Given the description of an element on the screen output the (x, y) to click on. 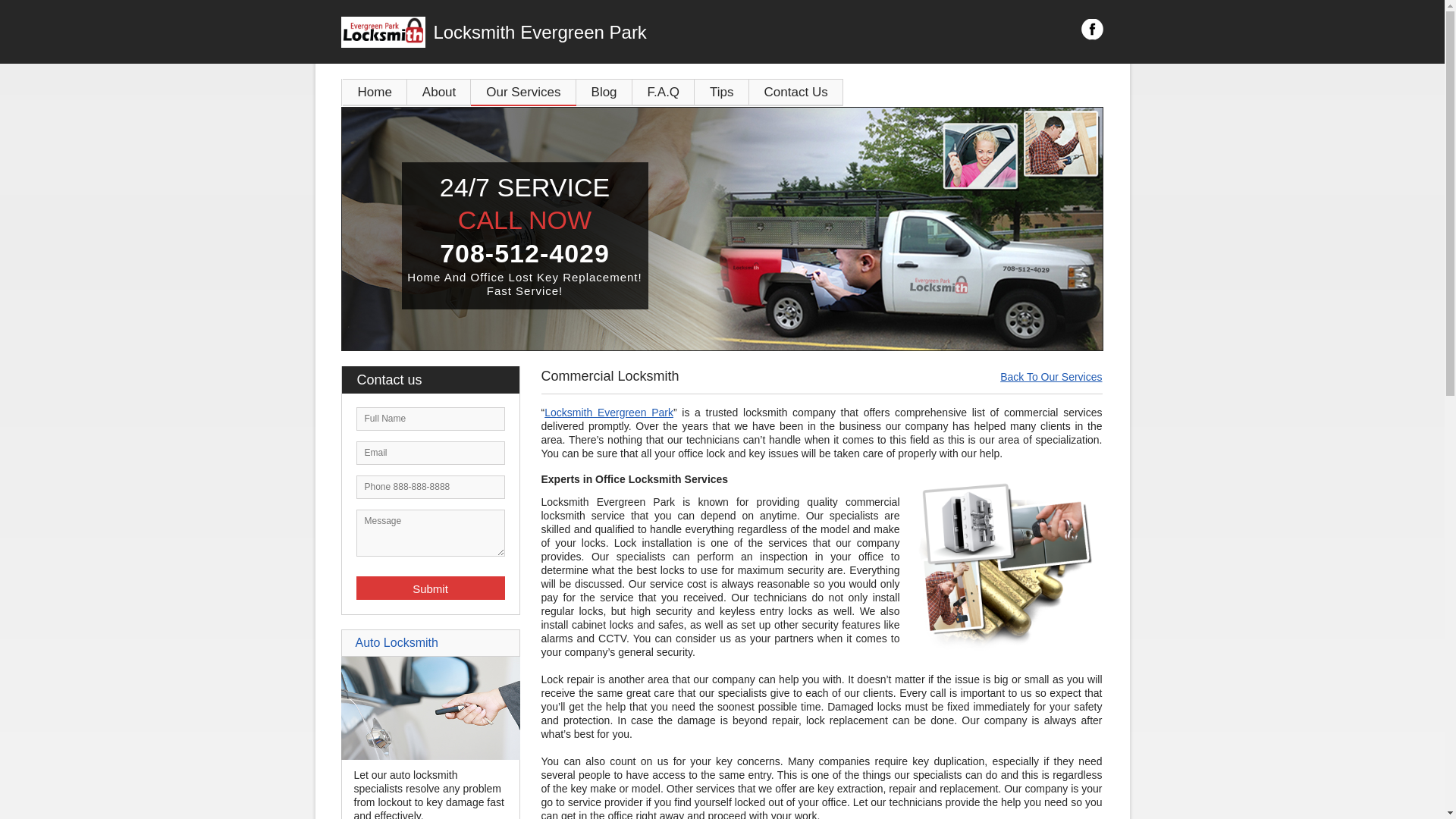
Tips Element type: text (721, 91)
Auto Locksmith Element type: text (395, 642)
Locksmith Evergreen Park Element type: text (608, 412)
F.A.Q Element type: text (663, 91)
Back To Our Services Element type: text (1050, 376)
Locksmith Evergreen Park, IL | 708-512-4029 | Fast Response Element type: hover (722, 228)
Contact us Element type: text (437, 379)
Locksmith Evergreen Park Element type: text (606, 32)
Our Services Element type: text (522, 91)
Submit Element type: text (430, 587)
Contact Us Element type: text (796, 91)
Auto Locksmith Element type: hover (430, 755)
Commercial Locksmith in Evergreen Park Element type: hover (1000, 562)
Blog Element type: text (604, 91)
Home Element type: text (374, 91)
Facebook Element type: text (1092, 29)
About Element type: text (438, 91)
